Given the description of an element on the screen output the (x, y) to click on. 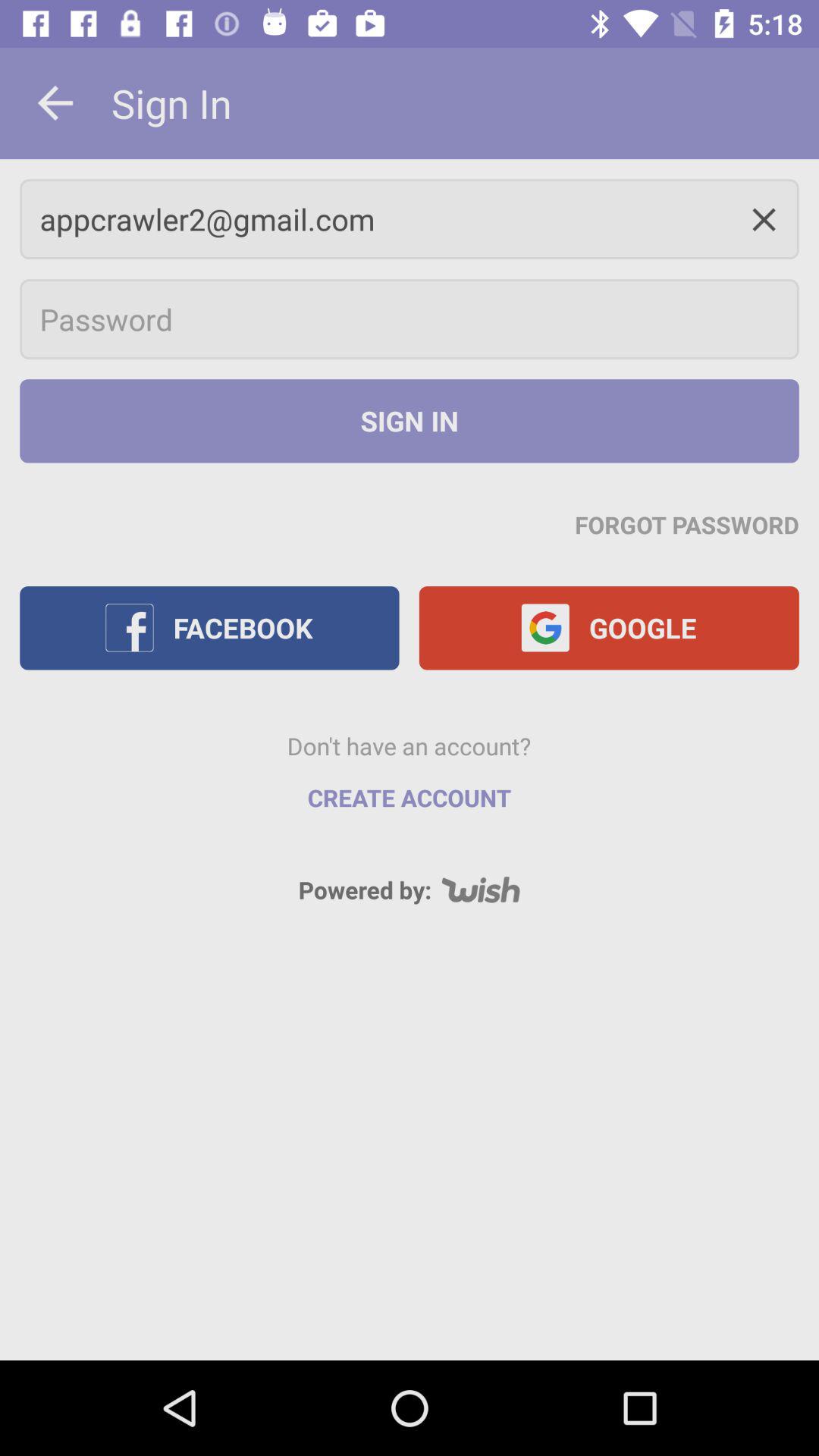
select password (409, 319)
